Given the description of an element on the screen output the (x, y) to click on. 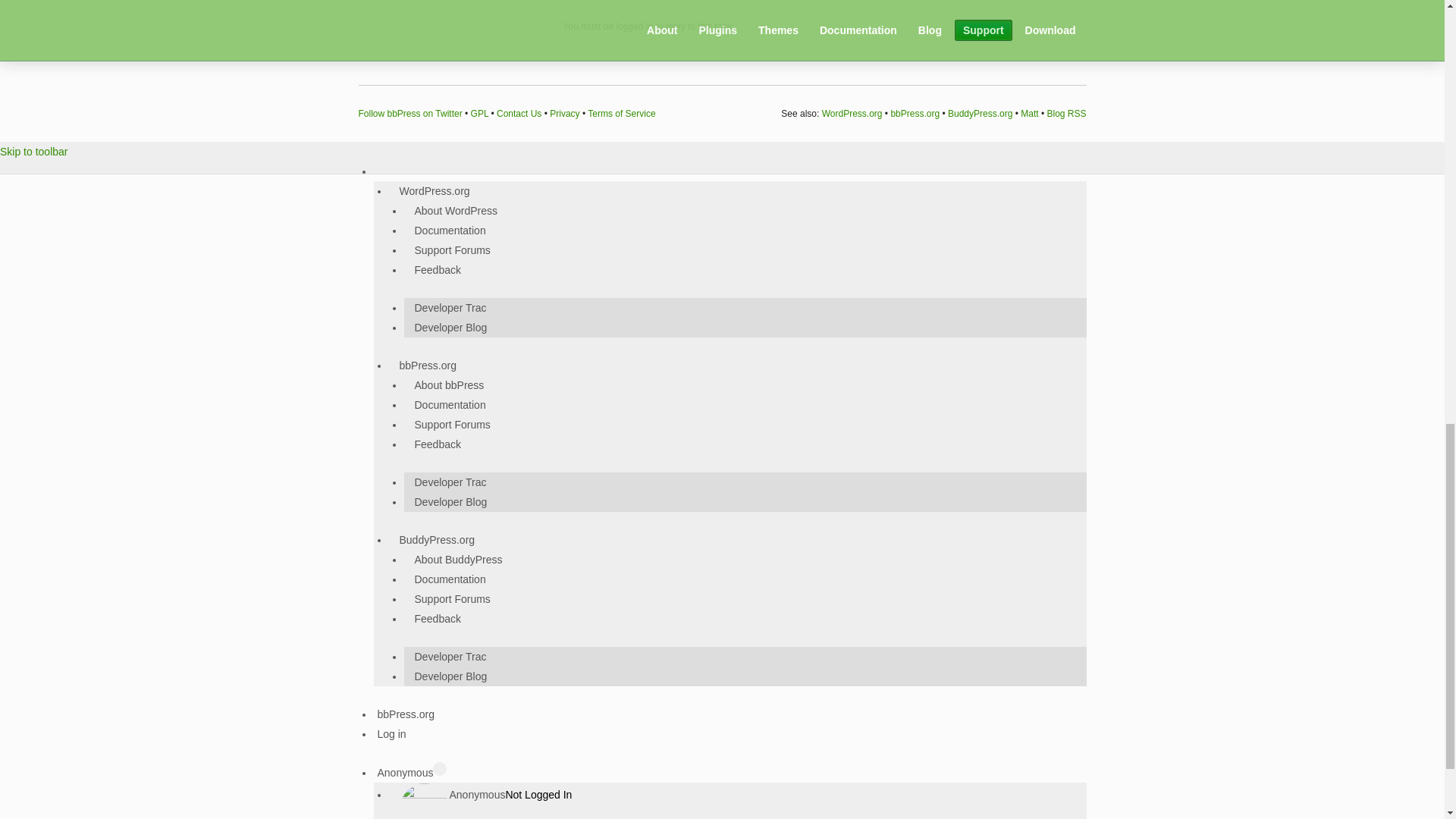
Blog RSS (1066, 113)
Terms of Service (621, 113)
Matt (1029, 113)
GPL (479, 113)
BuddyPress.org (979, 113)
Privacy (564, 113)
bbPress.org (914, 113)
Contact Us (518, 113)
WordPress.org (852, 113)
Follow bbPress on Twitter (409, 113)
